Given the description of an element on the screen output the (x, y) to click on. 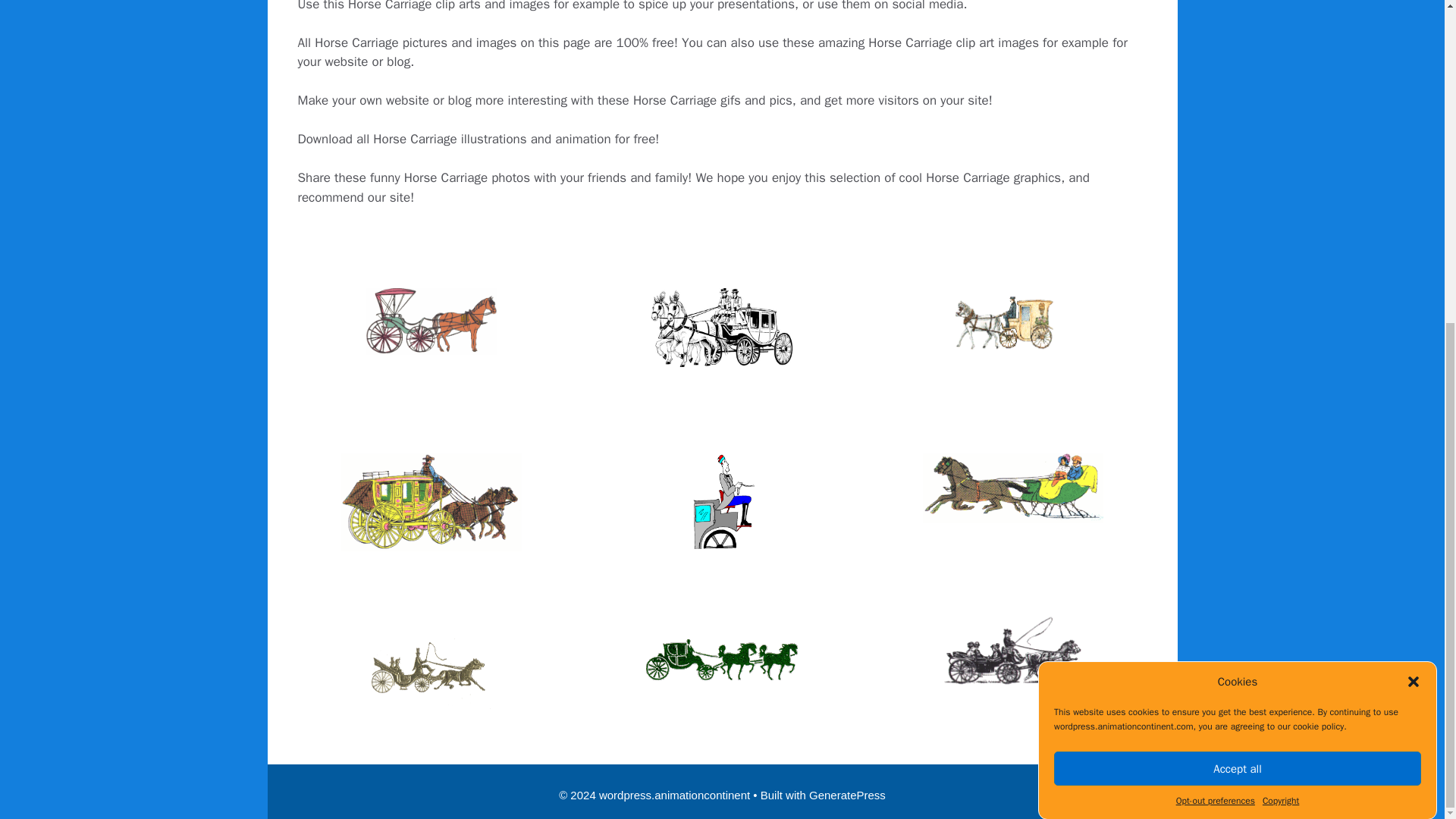
Opt-out preferences (1215, 424)
GeneratePress (847, 794)
Copyright (1280, 403)
